Given the description of an element on the screen output the (x, y) to click on. 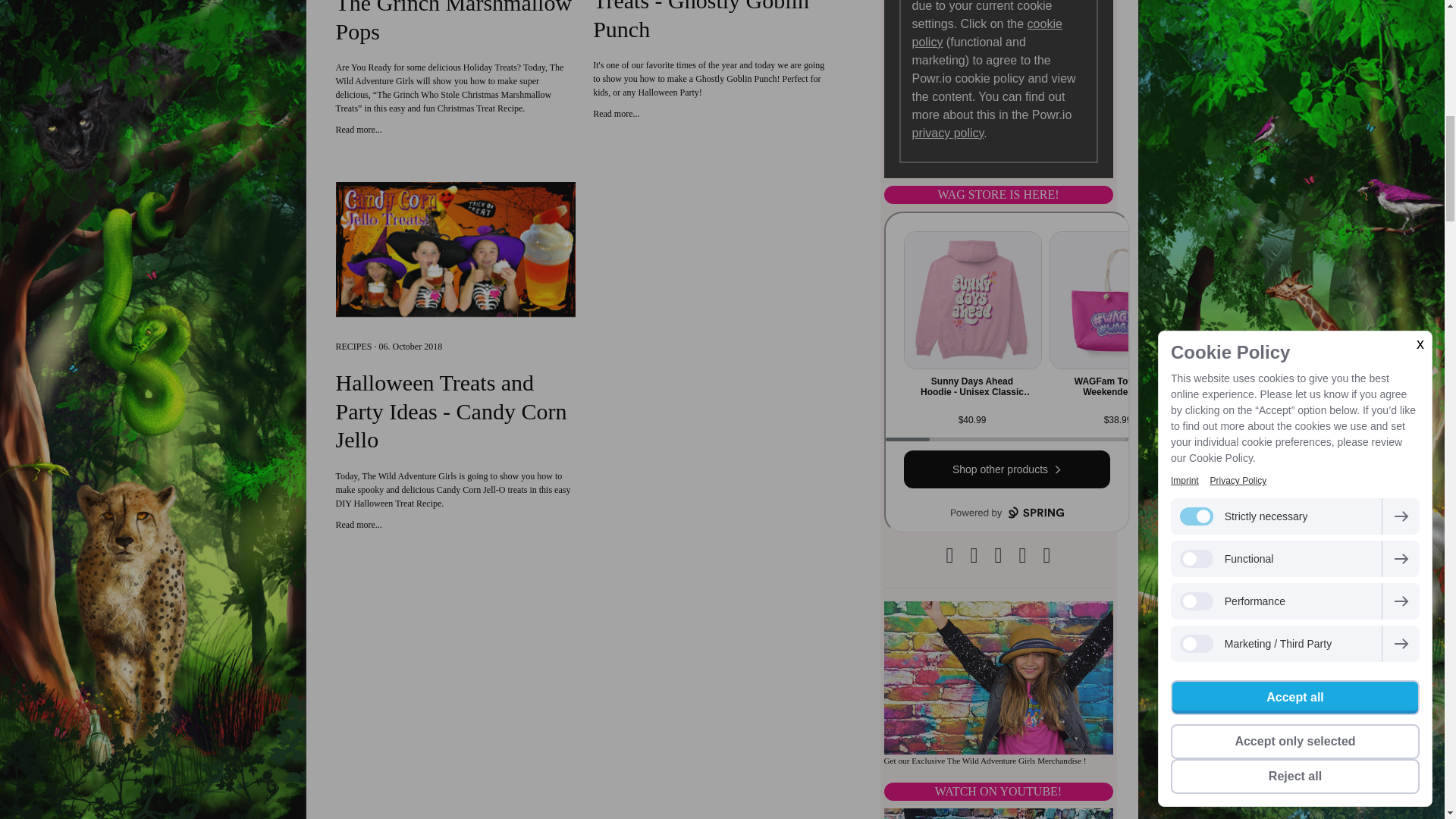
DIY Easy Halloween Treats - Ghostly Goblin Punch (712, 22)
Twitter (973, 555)
Halloween Treats and Party Ideas - Candy Corn Jello (357, 524)
Facebook (949, 555)
Halloween Treats and Party Ideas - Candy Corn Jello (454, 411)
DIY Easy Halloween Treats - Ghostly Goblin Punch (615, 113)
Email (998, 555)
